Given the description of an element on the screen output the (x, y) to click on. 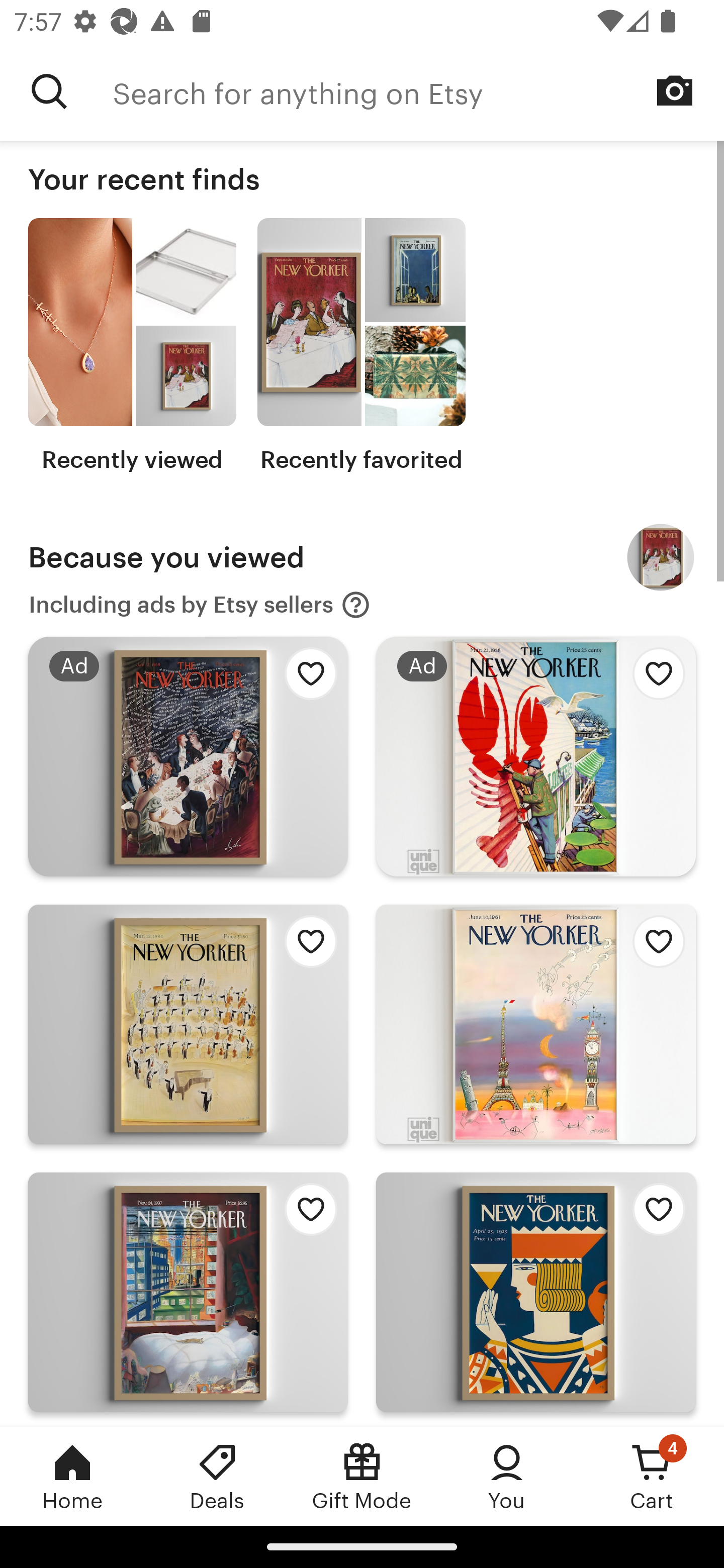
Search for anything on Etsy (49, 91)
Search by image (674, 90)
Search for anything on Etsy (418, 91)
Recently viewed (132, 345)
Recently favorited (361, 345)
Including ads by Etsy sellers (199, 604)
Deals (216, 1475)
Gift Mode (361, 1475)
You (506, 1475)
Cart, 4 new notifications Cart (651, 1475)
